Given the description of an element on the screen output the (x, y) to click on. 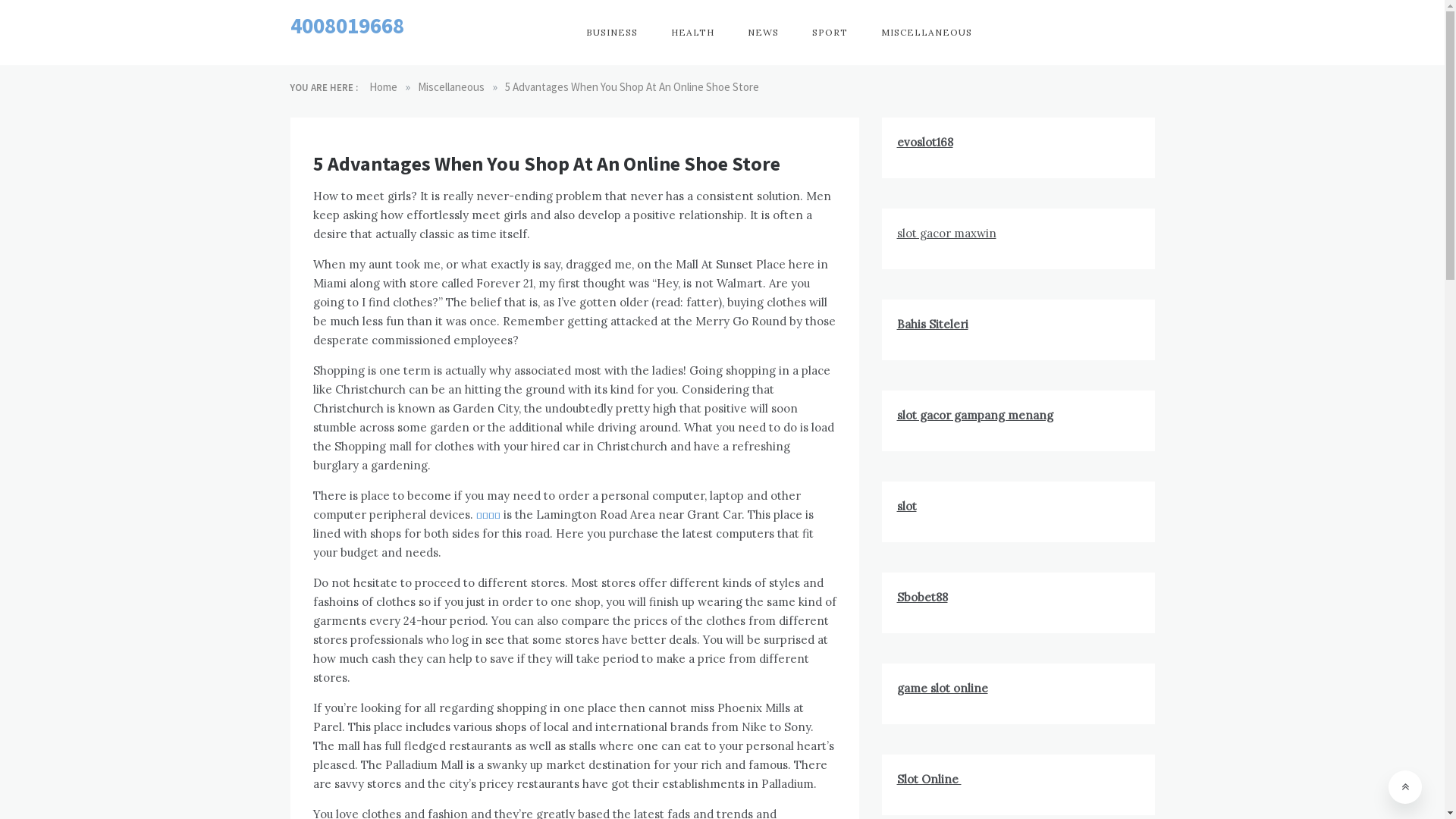
BUSINESS Element type: text (611, 32)
SPORT Element type: text (829, 32)
Go to Top Element type: hover (1404, 786)
slot gacor maxwin Element type: text (945, 232)
slot Element type: text (906, 505)
Bahis Siteleri Element type: text (931, 323)
MISCELLANEOUS Element type: text (926, 32)
evoslot168 Element type: text (924, 141)
Sbobet88 Element type: text (921, 596)
NEWS Element type: text (762, 32)
Home Element type: text (382, 86)
HEALTH Element type: text (692, 32)
slot gacor gampang menang Element type: text (974, 414)
game slot online Element type: text (941, 687)
Slot Online  Element type: text (928, 778)
4008019668 Element type: text (346, 25)
Miscellaneous Element type: text (450, 86)
